Given the description of an element on the screen output the (x, y) to click on. 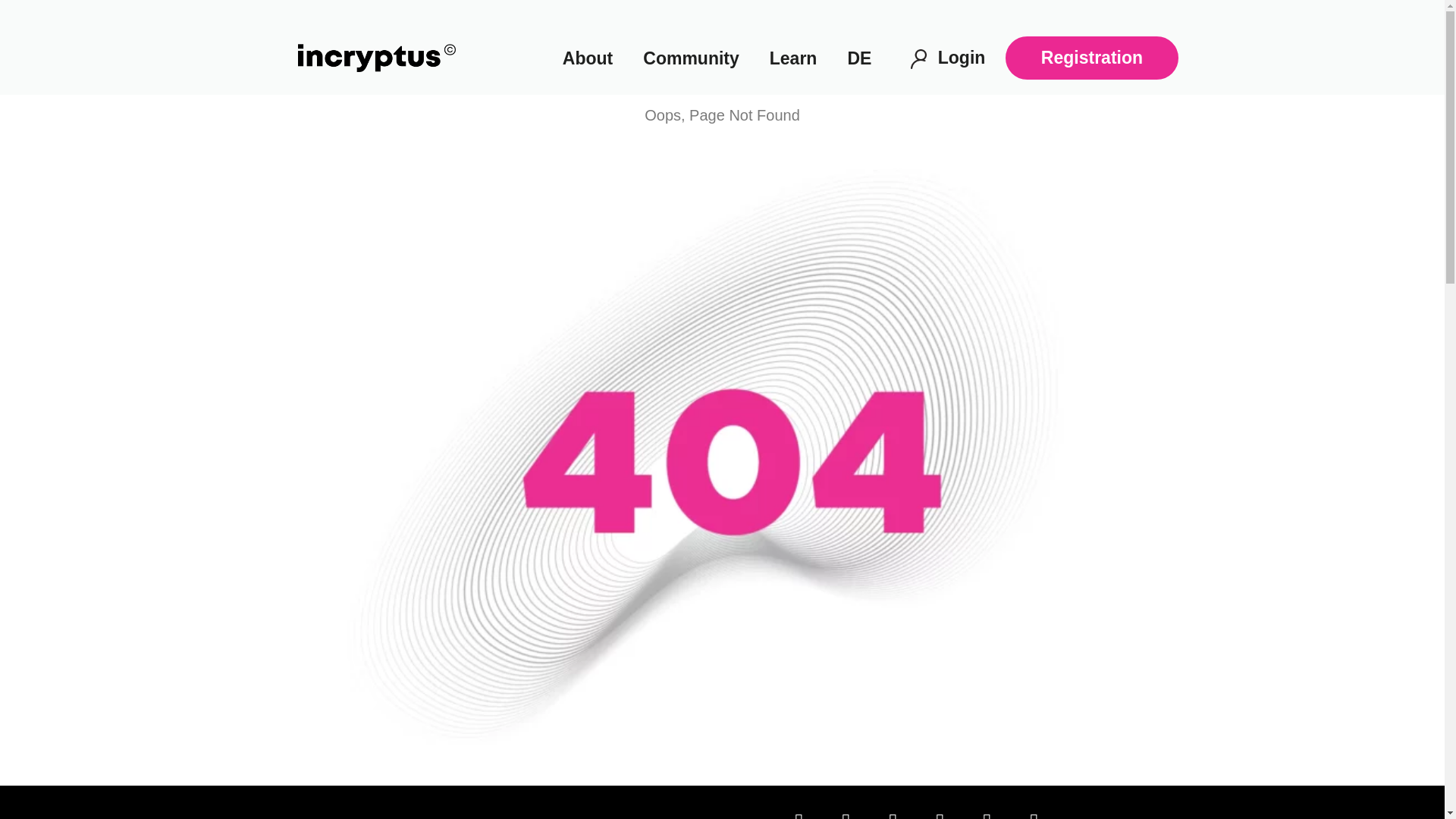
Learn (793, 58)
About (587, 58)
DE (858, 58)
Community (690, 58)
Registration (1091, 57)
Deutsch (858, 58)
Login (961, 57)
